Given the description of an element on the screen output the (x, y) to click on. 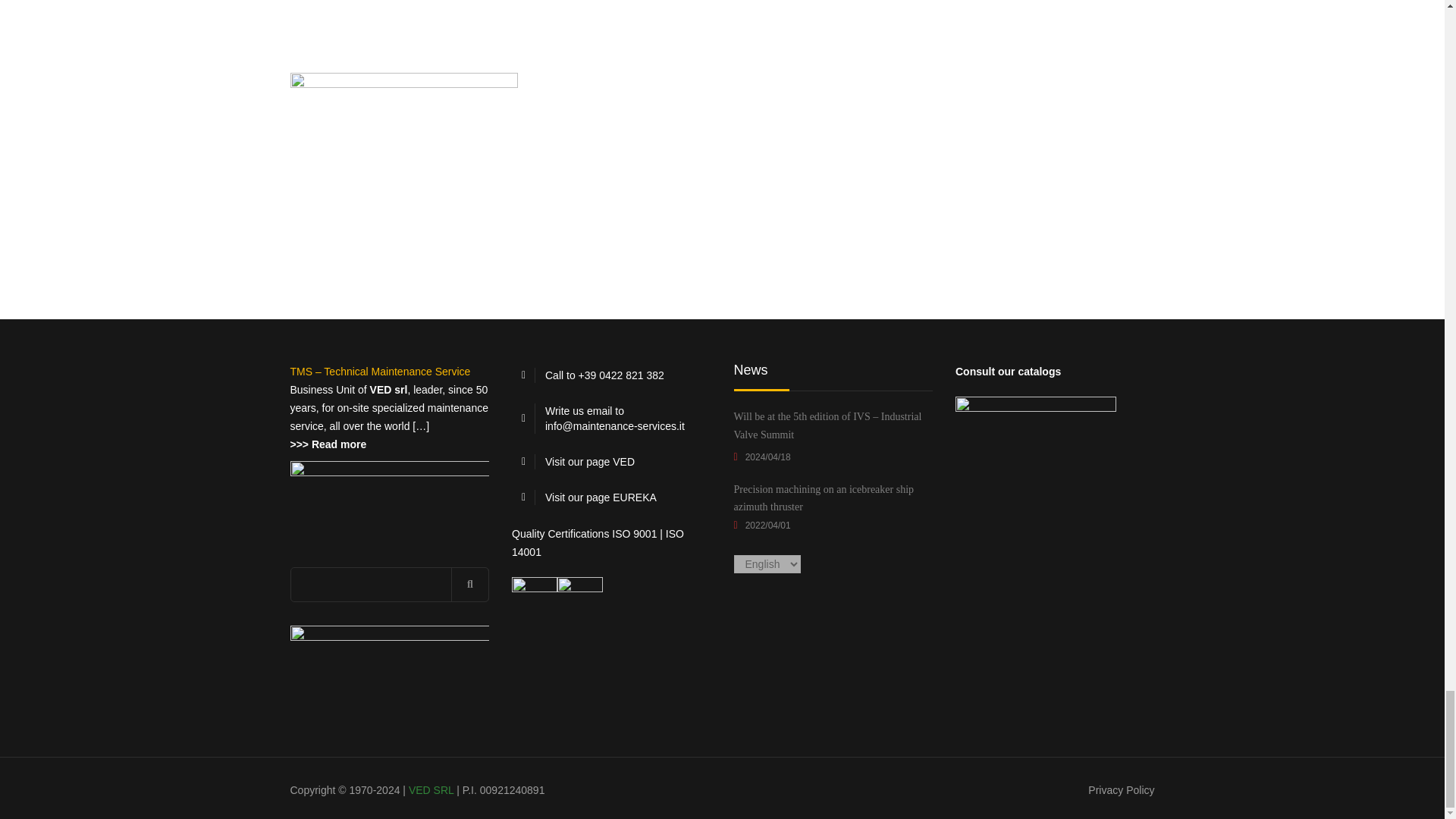
Search (470, 584)
